Given the description of an element on the screen output the (x, y) to click on. 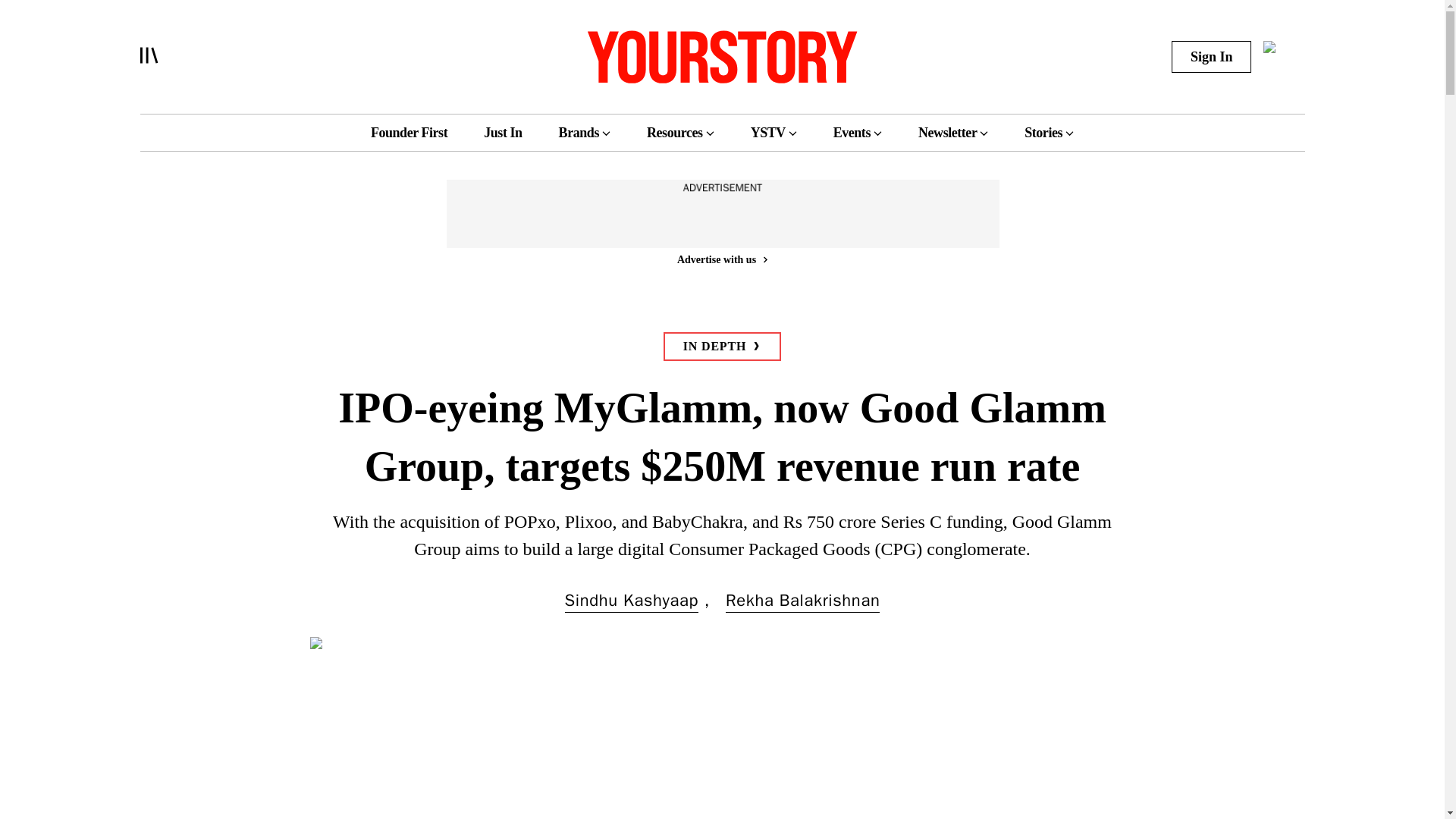
Just In (502, 132)
IN DEPTH (721, 346)
Founder First (408, 132)
Advertise with us (721, 259)
